Given the description of an element on the screen output the (x, y) to click on. 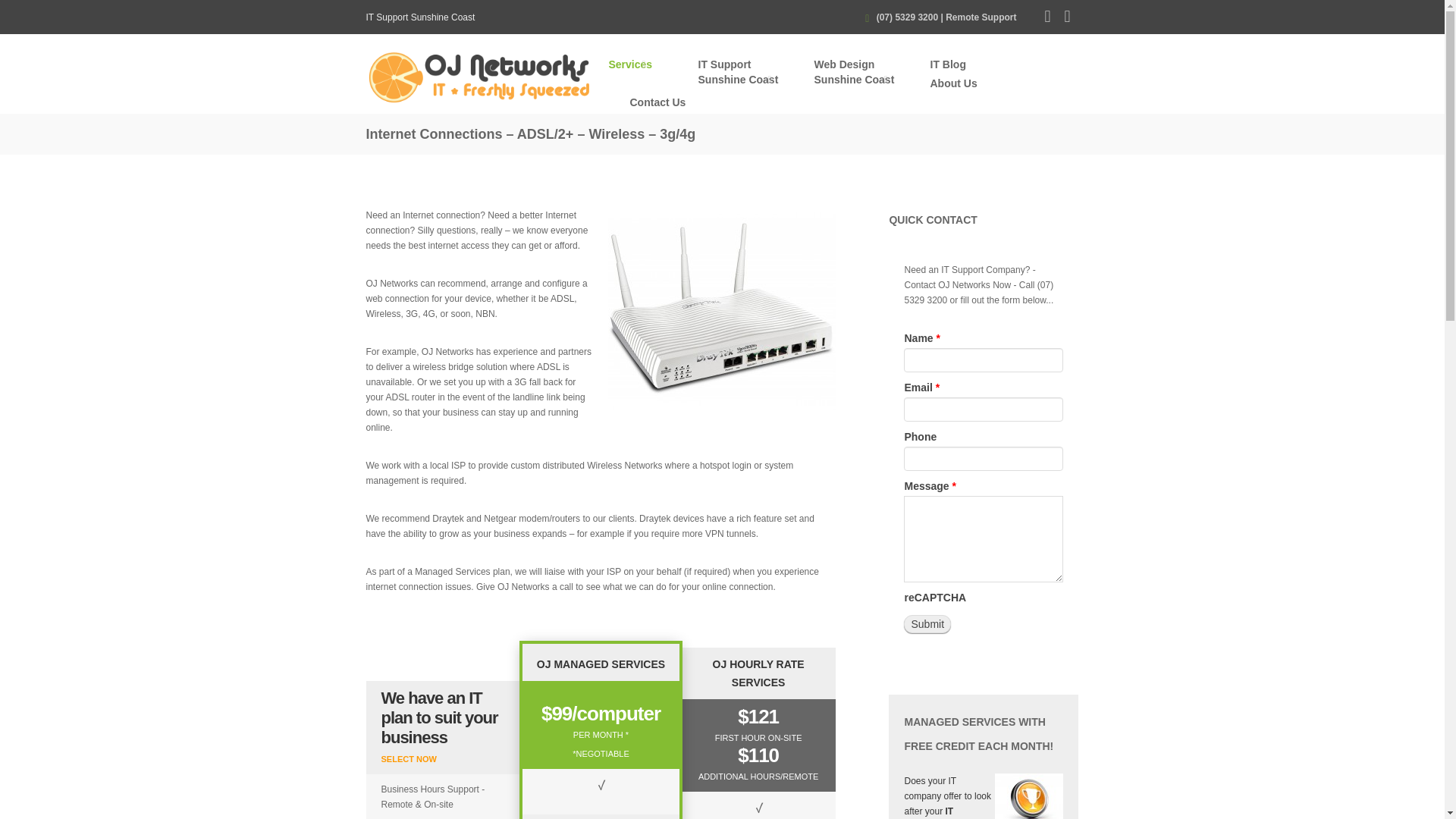
IT Support Sunshine Coast (744, 73)
Home (478, 76)
Remote Support (980, 17)
Submit (927, 624)
Services (642, 66)
Web Design Sunshine Coast (860, 73)
